Given the description of an element on the screen output the (x, y) to click on. 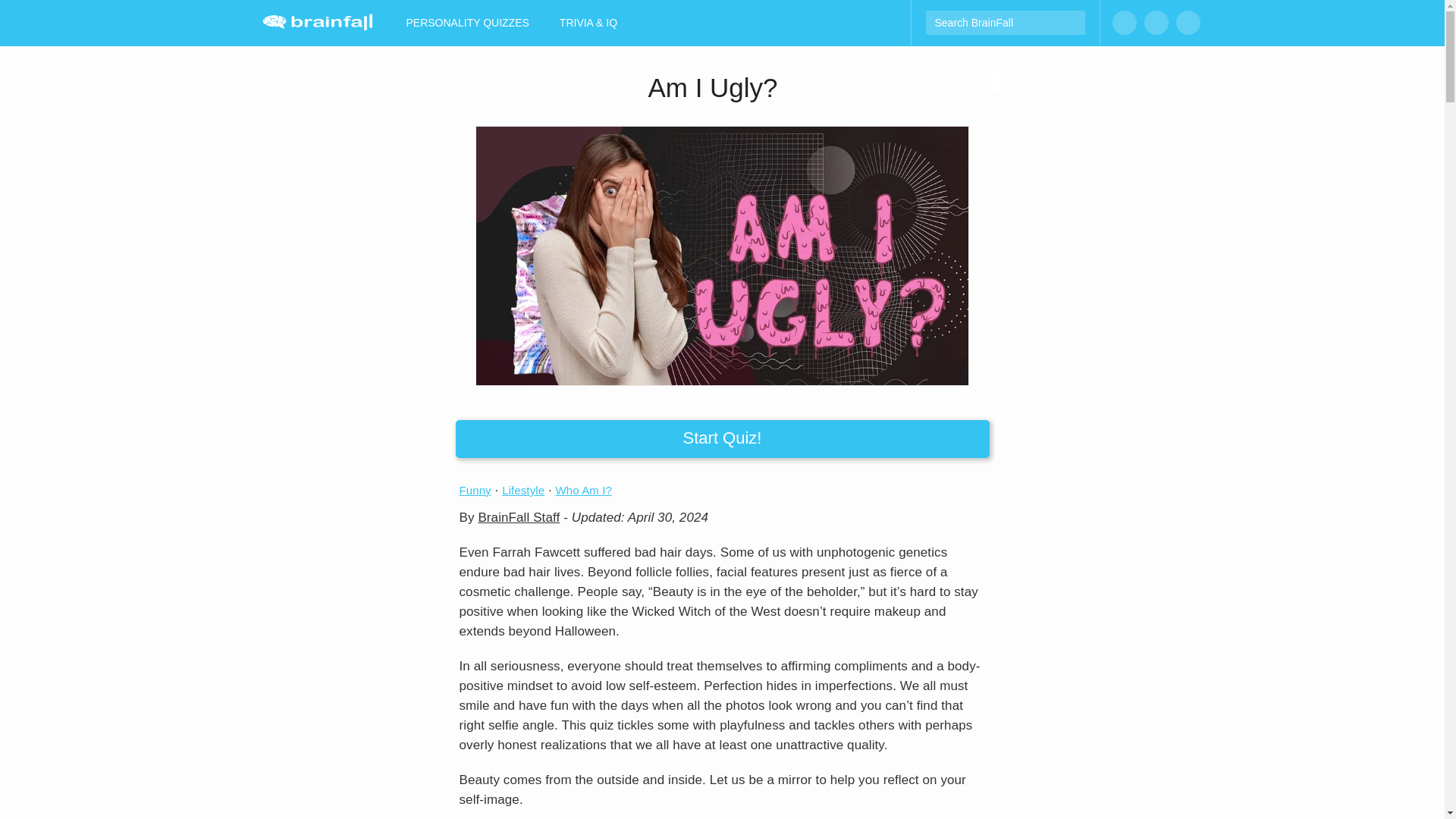
Like us on Facebook! (1123, 22)
Follow us on Twitter! (1186, 22)
Start Quiz! (721, 438)
Am I Ugly? (722, 255)
Follow us on Instagram! (1154, 22)
